Given the description of an element on the screen output the (x, y) to click on. 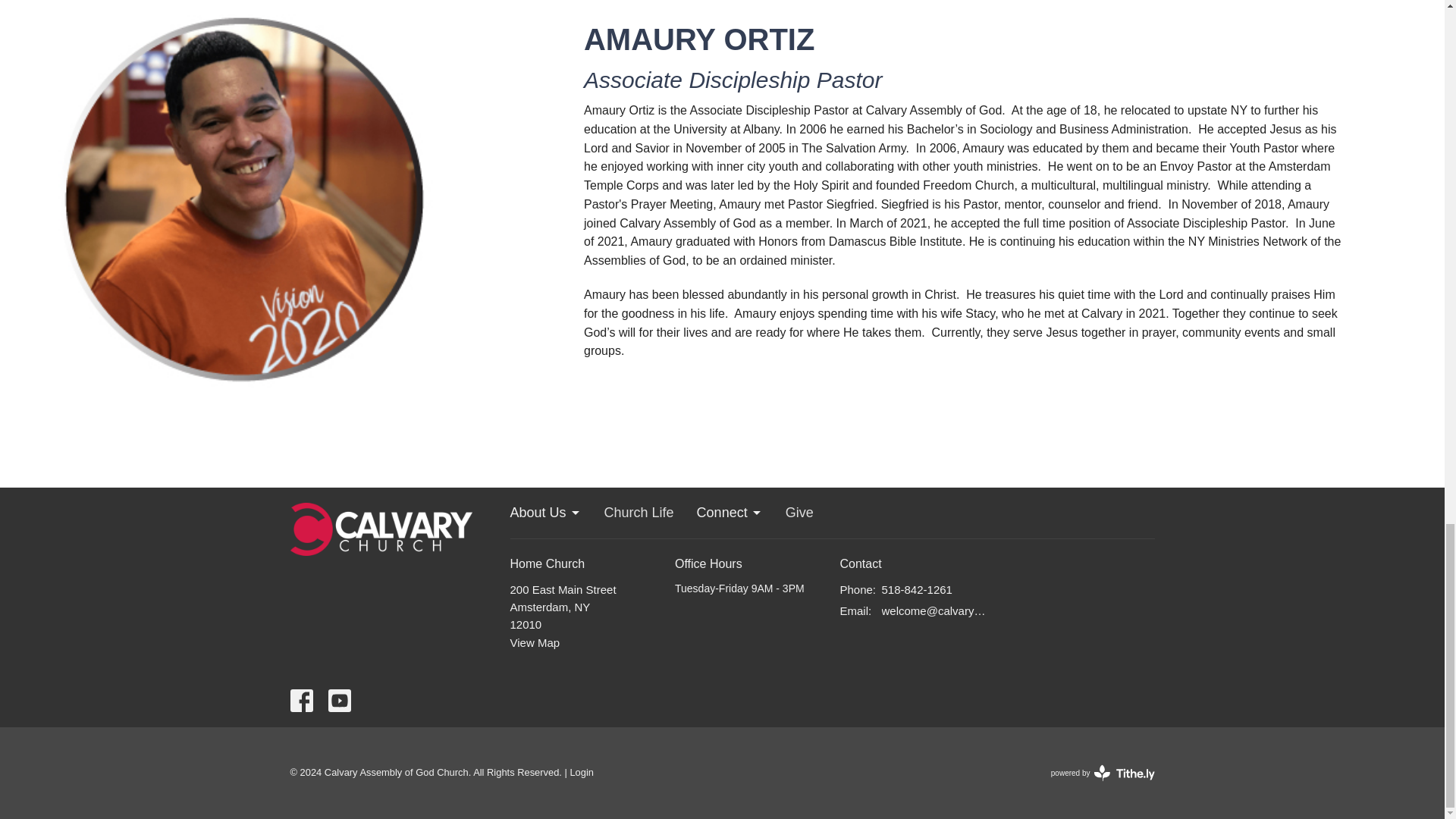
518-842-1261 (916, 589)
translation missing: en.ui.email (1102, 772)
Give (854, 610)
Connect (799, 513)
Login (729, 513)
Church Life (581, 772)
View Map (639, 513)
About Us (534, 642)
